Given the description of an element on the screen output the (x, y) to click on. 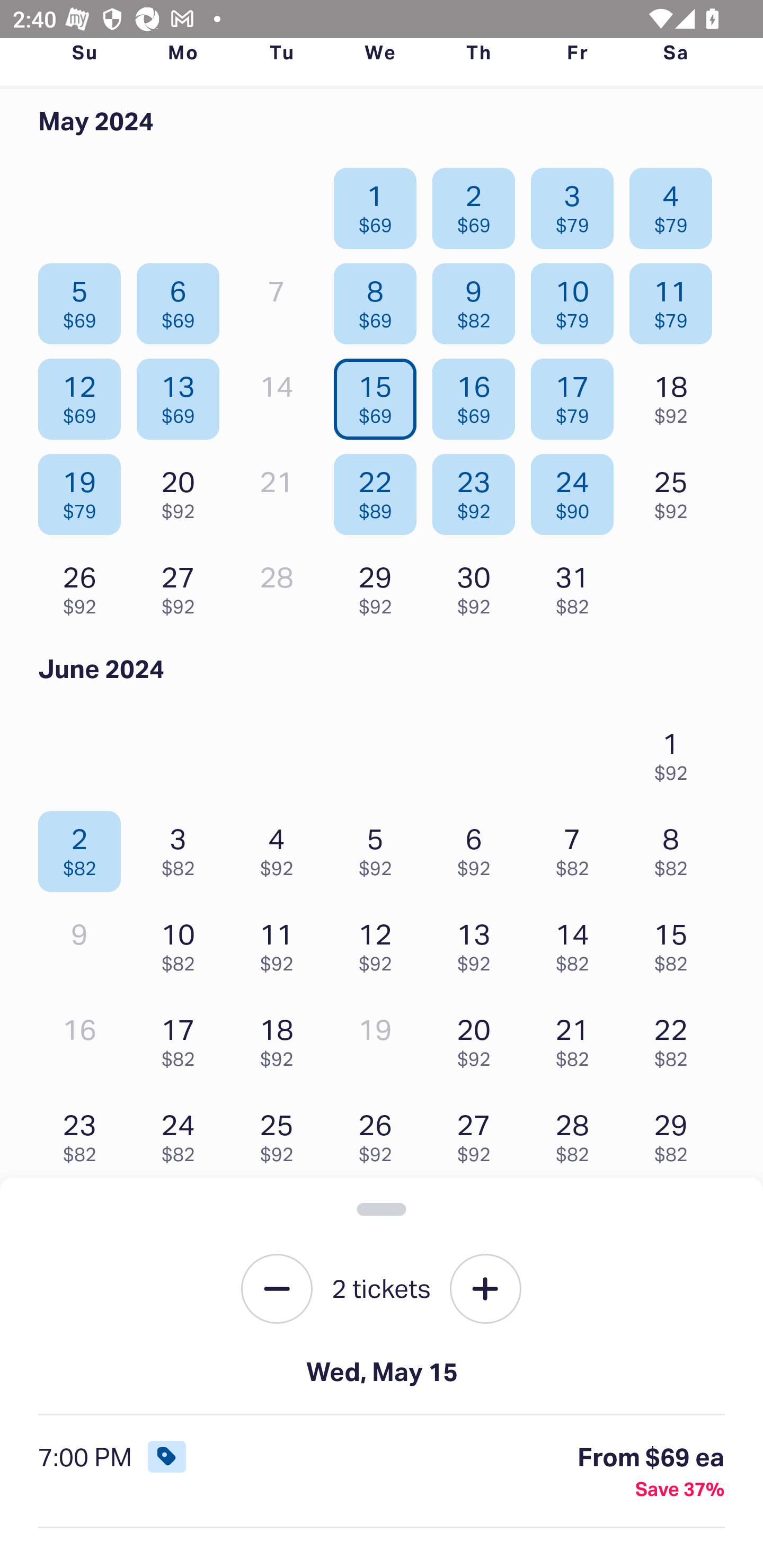
1 $69 (379, 204)
2 $69 (478, 204)
3 $79 (577, 204)
4 $79 (675, 204)
5 $69 (84, 299)
6 $69 (182, 299)
8 $69 (379, 299)
9 $82 (478, 299)
10 $79 (577, 299)
11 $79 (675, 299)
12 $69 (84, 395)
13 $69 (182, 395)
15 $69 (379, 395)
16 $69 (478, 395)
17 $79 (577, 395)
18 $92 (675, 395)
19 $79 (84, 489)
20 $92 (182, 489)
22 $89 (379, 489)
23 $92 (478, 489)
24 $90 (577, 489)
25 $92 (675, 489)
26 $92 (84, 585)
27 $92 (182, 585)
29 $92 (379, 585)
30 $92 (478, 585)
31 $82 (577, 585)
1 $92 (675, 751)
2 $82 (84, 847)
3 $82 (182, 847)
4 $92 (281, 847)
5 $92 (379, 847)
6 $92 (478, 847)
7 $82 (577, 847)
8 $82 (675, 847)
10 $82 (182, 942)
11 $92 (281, 942)
12 $92 (379, 942)
13 $92 (478, 942)
14 $82 (577, 942)
15 $82 (675, 942)
17 $82 (182, 1038)
18 $92 (281, 1038)
20 $92 (478, 1038)
21 $82 (577, 1038)
22 $82 (675, 1038)
23 $82 (84, 1133)
24 $82 (182, 1133)
25 $92 (281, 1133)
26 $92 (379, 1133)
27 $92 (478, 1133)
28 $82 (577, 1133)
29 $82 (675, 1133)
7:00 PM From $69 ea Save 37% (381, 1471)
